Given the description of an element on the screen output the (x, y) to click on. 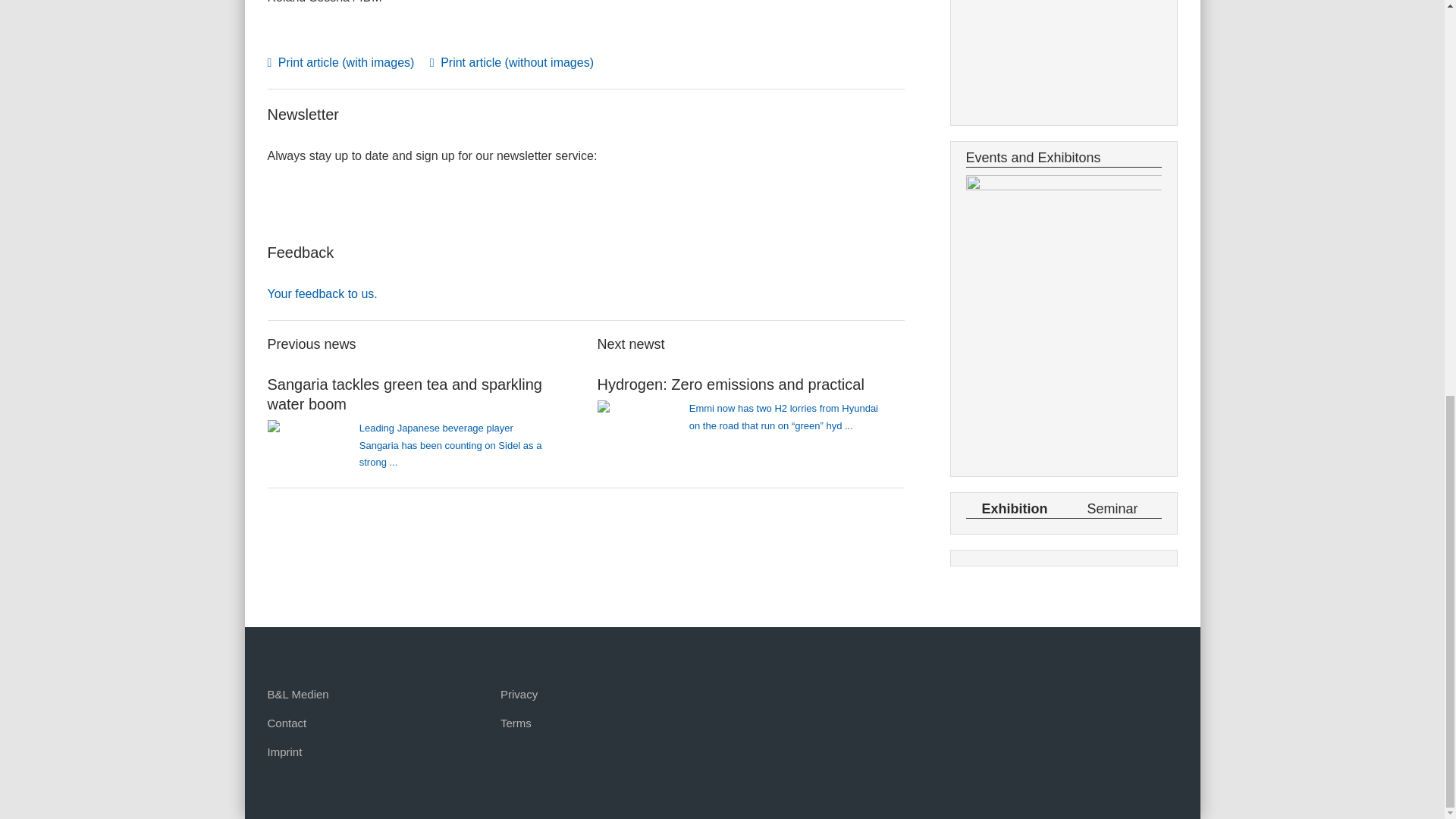
Privacy (518, 694)
Contact (285, 722)
Imprint (283, 751)
Terms (515, 722)
Your feedback to us. (321, 293)
